Given the description of an element on the screen output the (x, y) to click on. 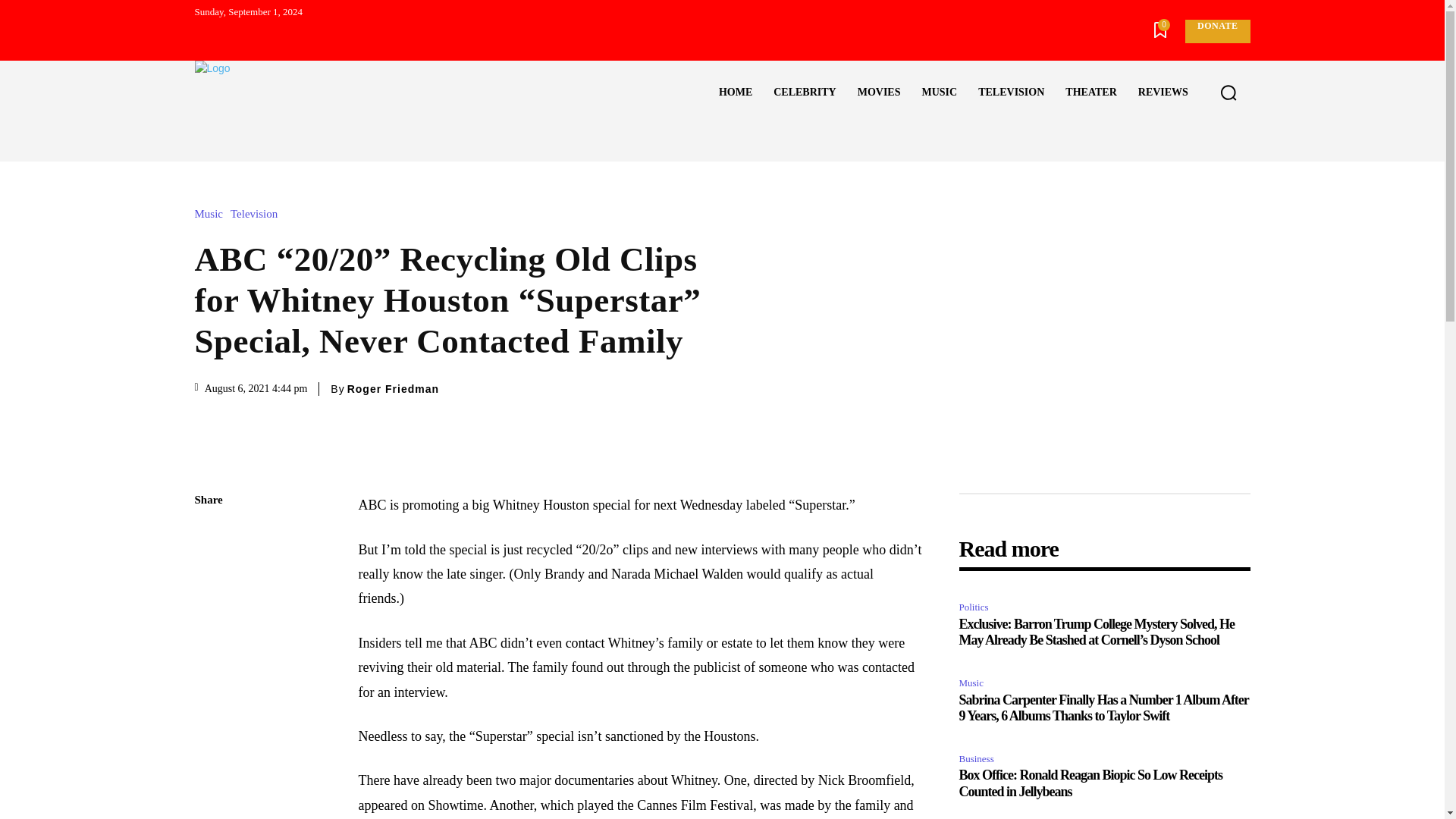
Donate (1217, 31)
MUSIC (939, 92)
TELEVISION (1011, 92)
DONATE (1217, 31)
Music (211, 214)
MOVIES (879, 92)
CELEBRITY (803, 92)
REVIEWS (1162, 92)
THEATER (1090, 92)
HOME (734, 92)
